Given the description of an element on the screen output the (x, y) to click on. 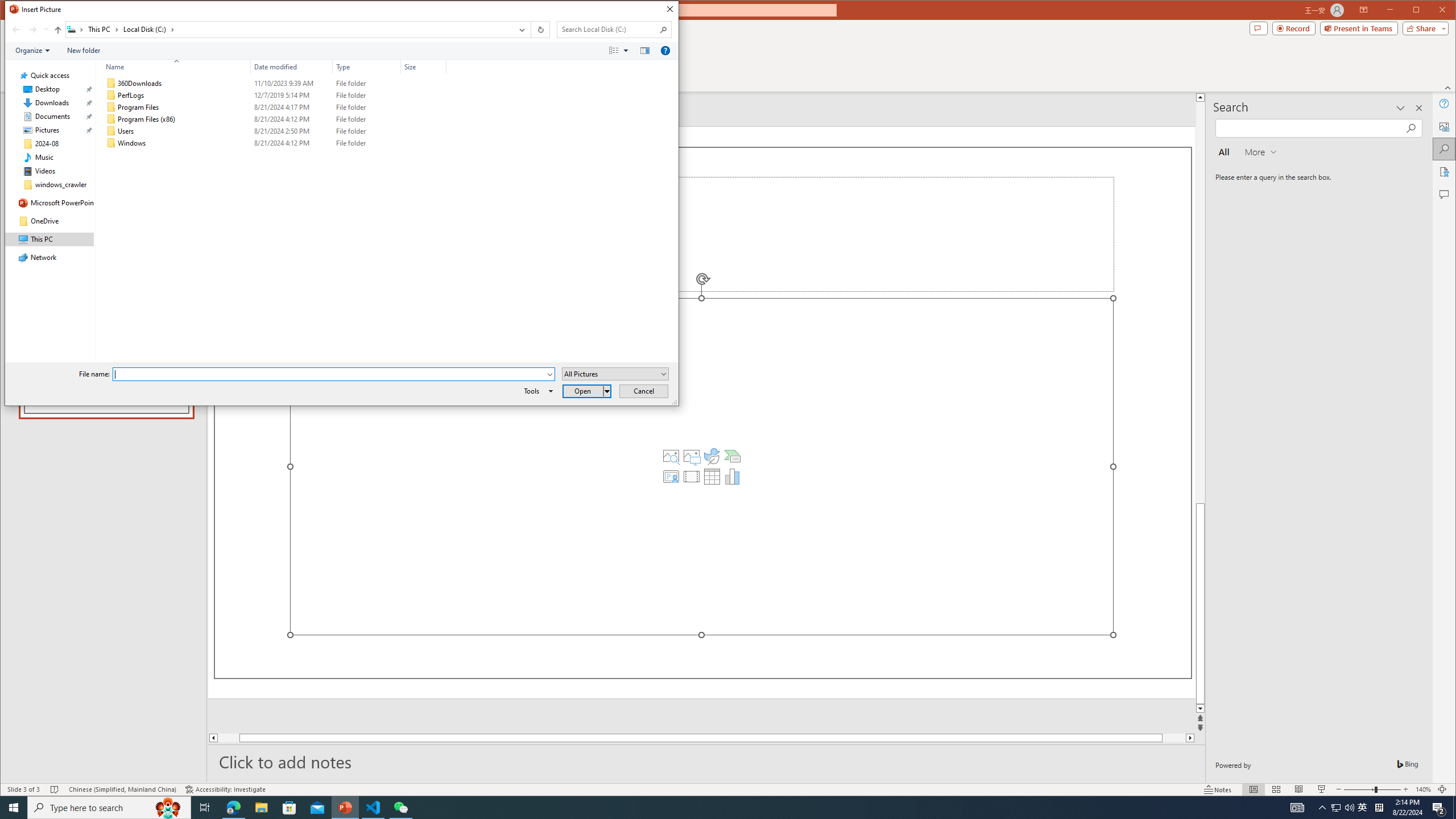
Type (366, 142)
Class: UIImage (111, 142)
Tools (536, 390)
360Downloads (273, 83)
